Given the description of an element on the screen output the (x, y) to click on. 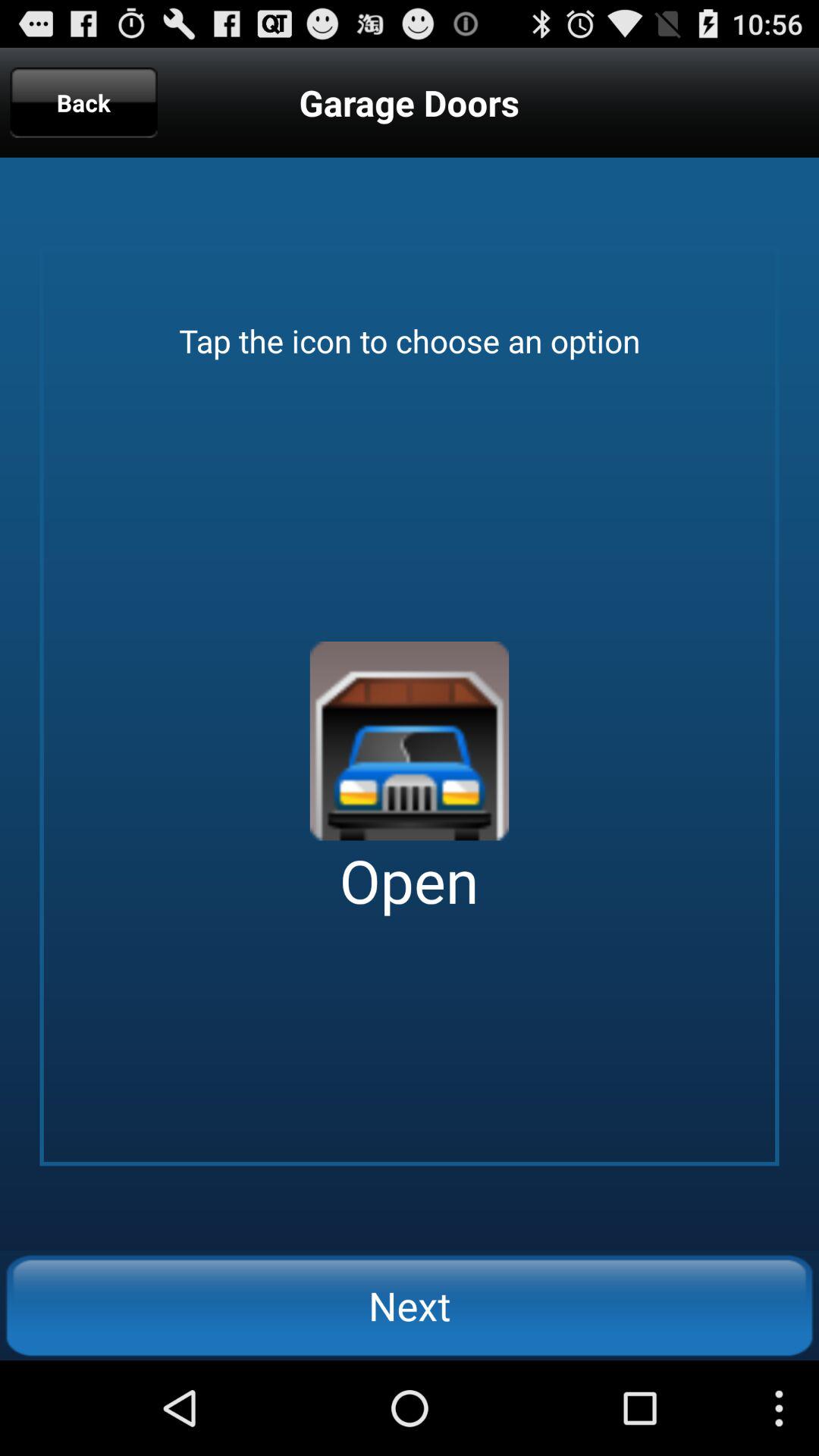
turn off next at the bottom (409, 1305)
